Given the description of an element on the screen output the (x, y) to click on. 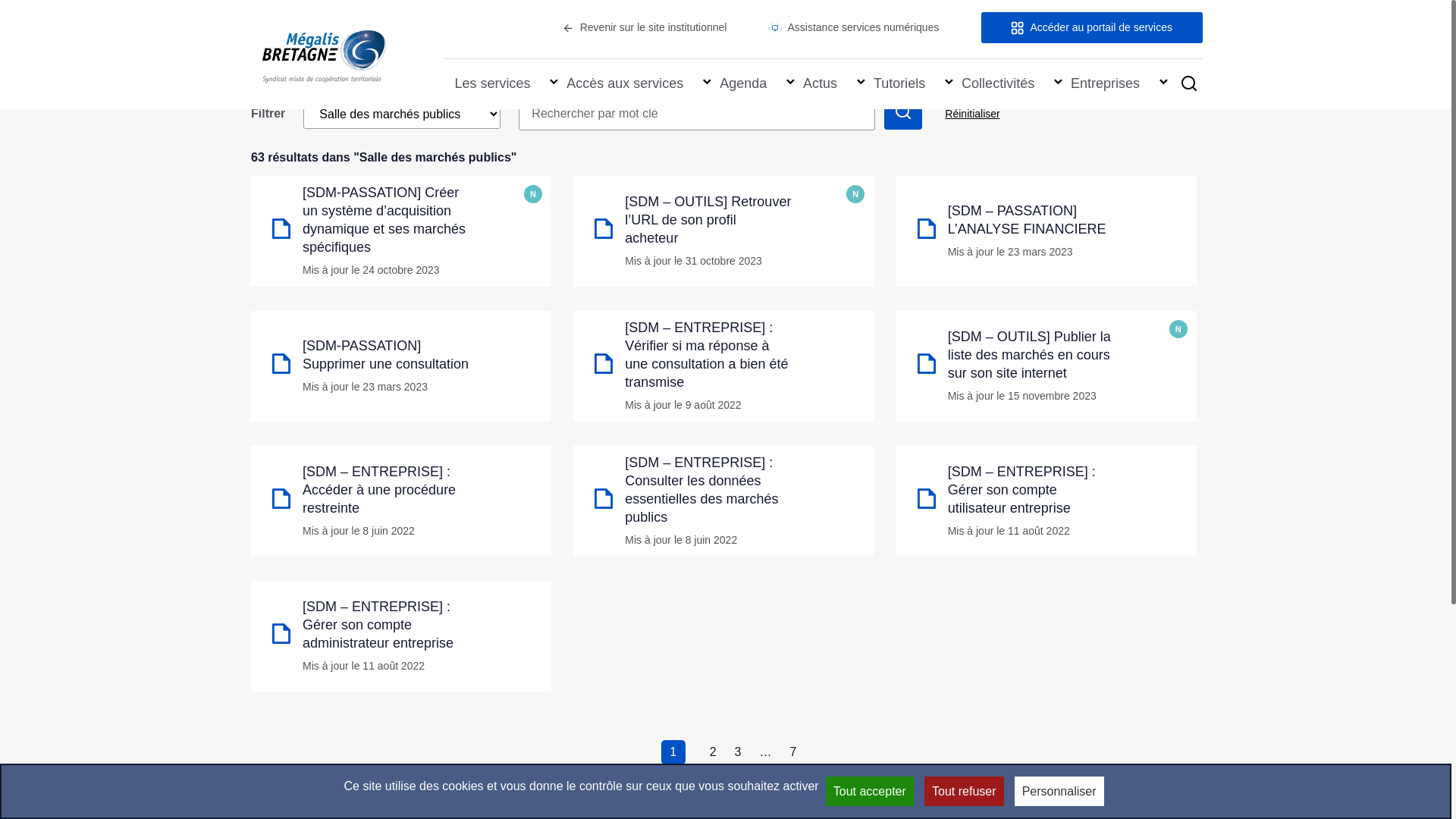
Actus Element type: text (820, 83)
Les services Element type: text (492, 83)
Tutoriels Element type: text (899, 83)
Entreprises Element type: text (1104, 83)
Accueil Element type: text (265, 6)
Revenir sur le site institutionnel Element type: text (644, 27)
Tout refuser Element type: text (963, 791)
7 Element type: text (792, 752)
Tout accepter Element type: text (869, 791)
Agenda Element type: text (742, 83)
3 Element type: text (737, 752)
2 Element type: text (712, 752)
Personnaliser Element type: text (1059, 791)
